Given the description of an element on the screen output the (x, y) to click on. 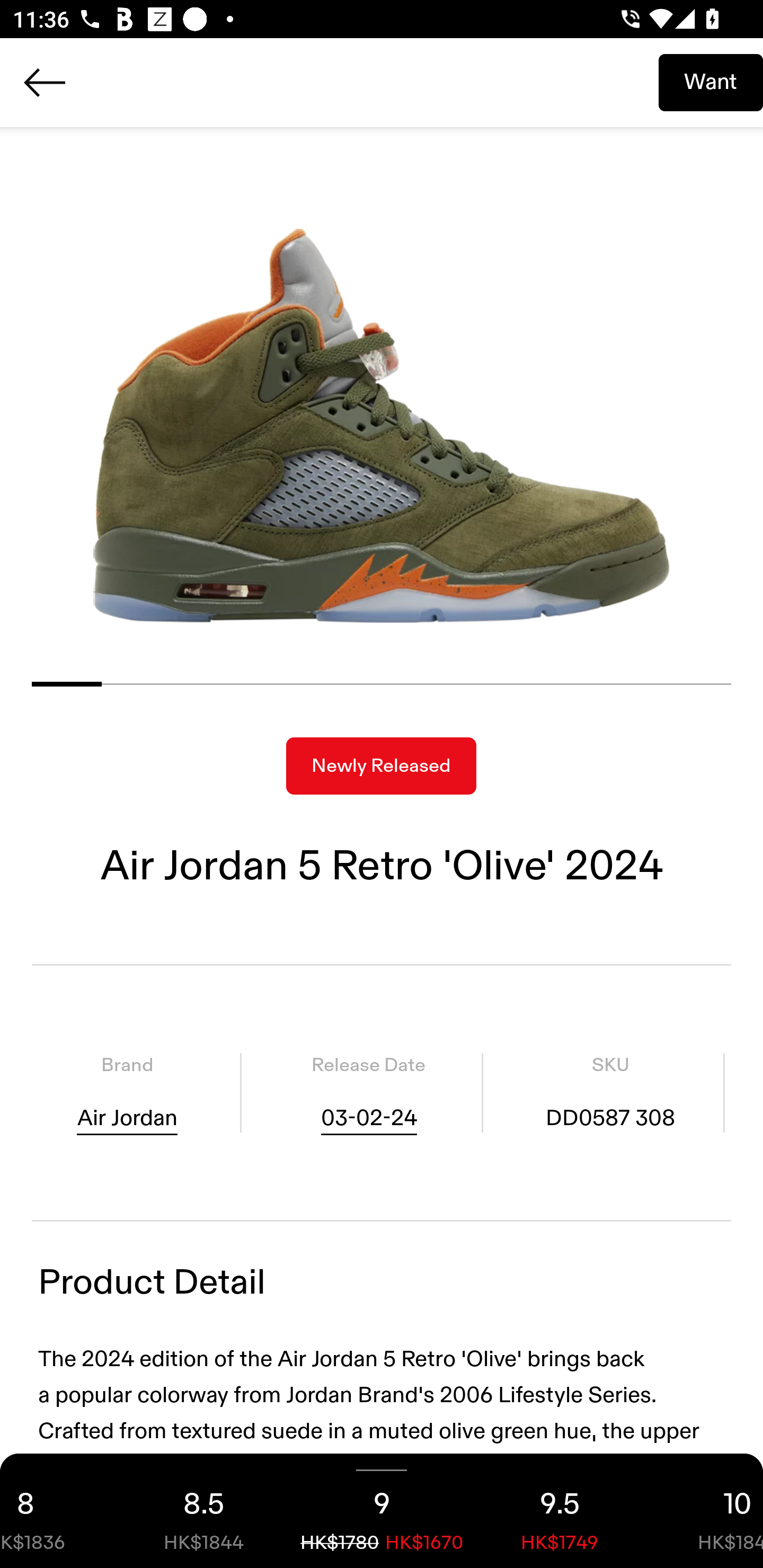
Want (710, 82)
Newly Released (381, 765)
Brand Air Jordan (126, 1092)
Release Date 03-02-24 (368, 1092)
SKU DD0587 308 (609, 1092)
8 HK$1836 (57, 1510)
8.5 HK$1844 (203, 1510)
9 HK$1780 HK$1670 (381, 1510)
9.5 HK$1749 (559, 1510)
10 HK$1844 (705, 1510)
